Given the description of an element on the screen output the (x, y) to click on. 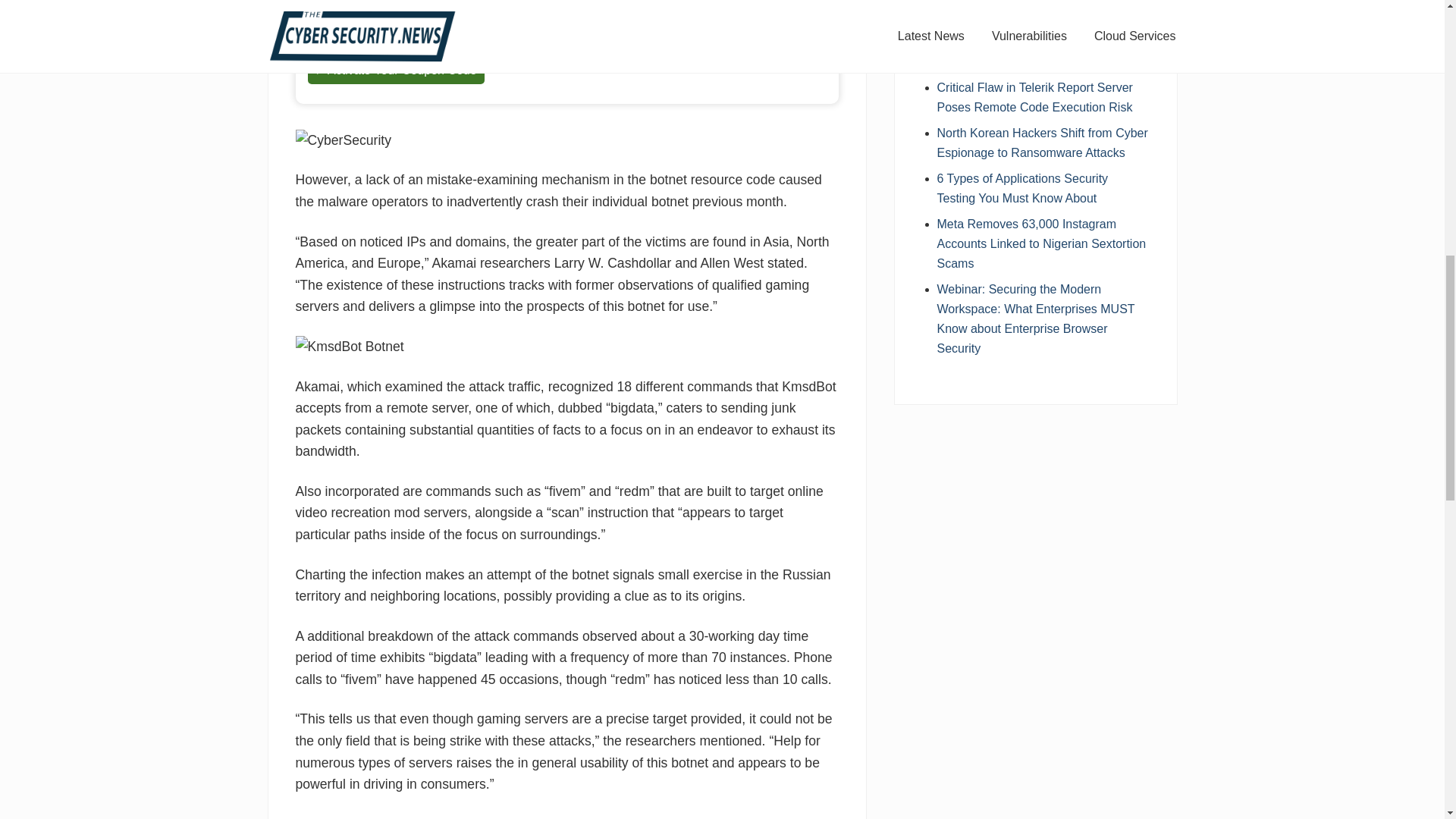
6 Types of Applications Security Testing You Must Know About (1022, 187)
KmsdBot Botnet (349, 346)
